Given the description of an element on the screen output the (x, y) to click on. 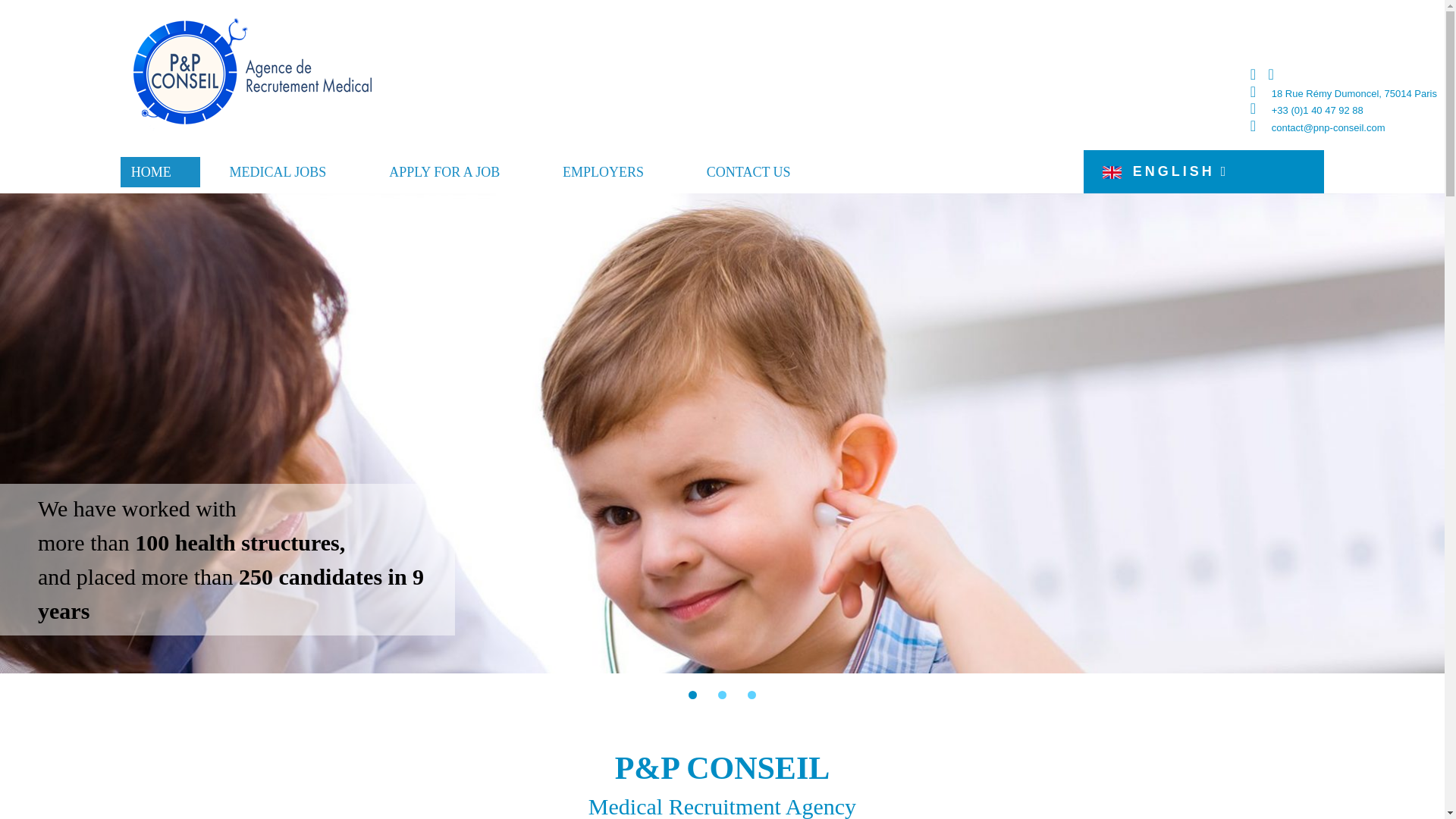
CONTACT US (750, 171)
3 (751, 695)
2 (721, 695)
EMPLOYERS (606, 171)
MEDICAL JOBS (279, 171)
APPLY FOR A JOB (446, 171)
HOME (160, 171)
1 (692, 695)
